Given the description of an element on the screen output the (x, y) to click on. 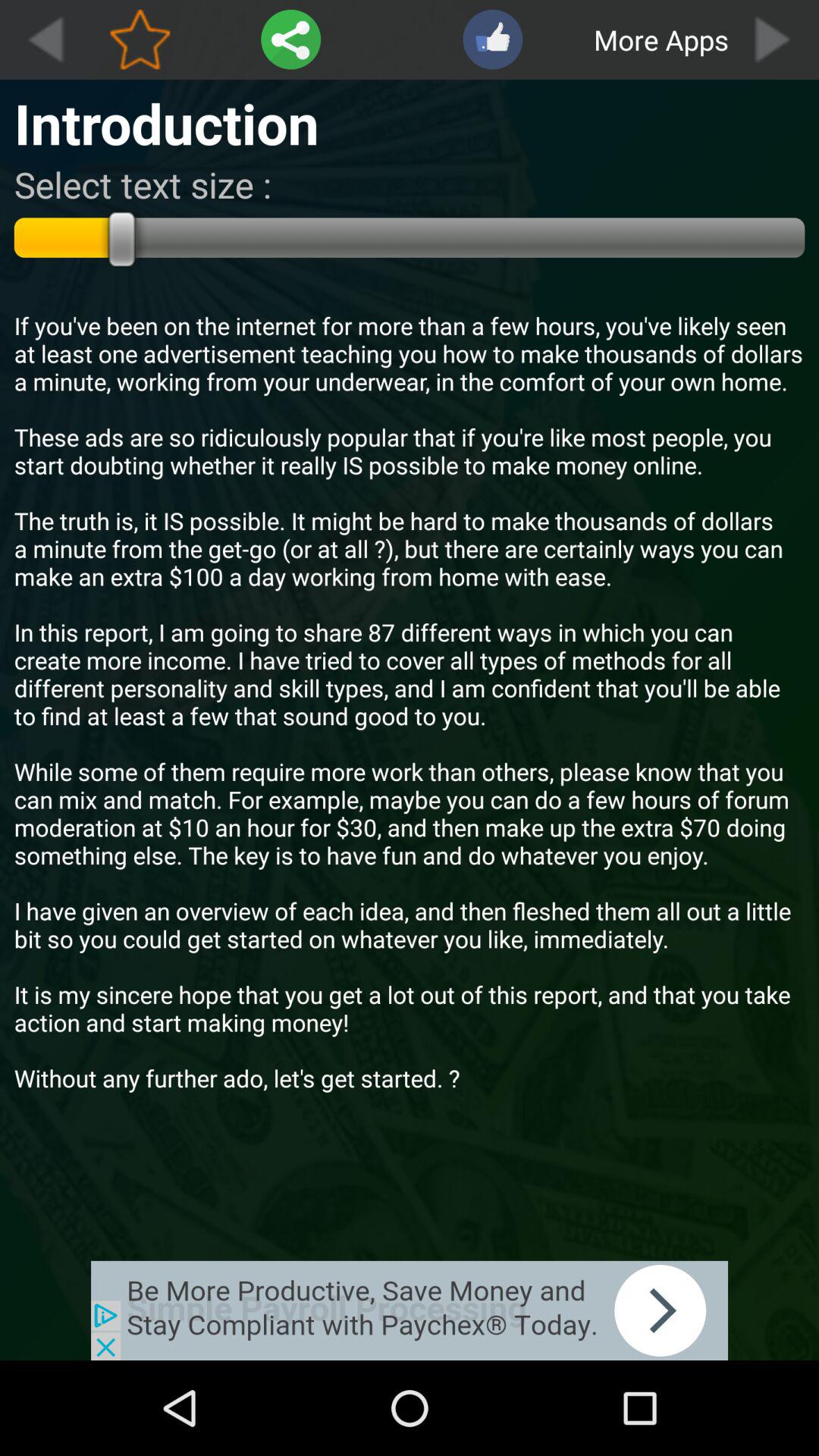
like option (492, 39)
